Given the description of an element on the screen output the (x, y) to click on. 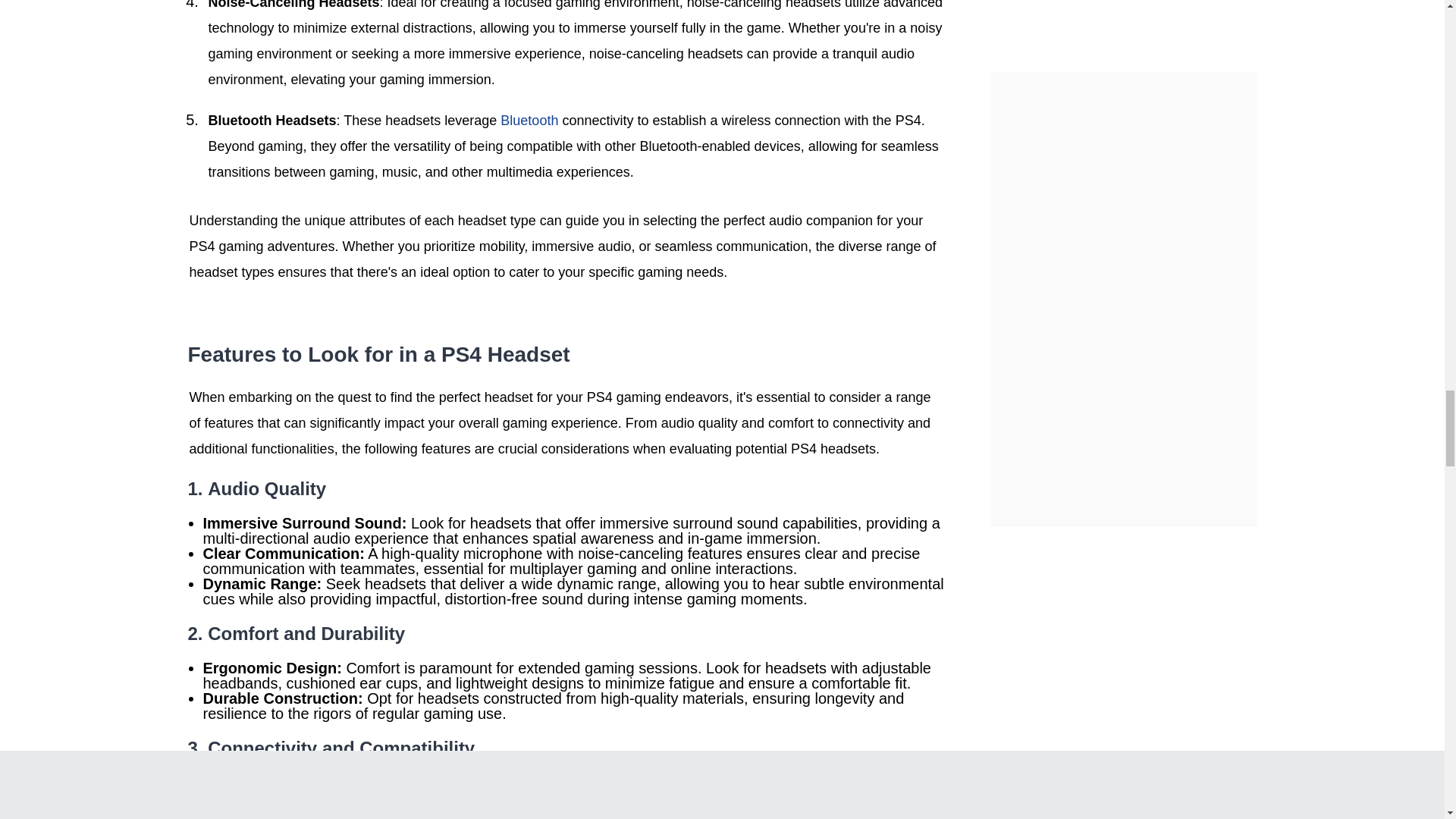
Bluetooth (528, 120)
